Given the description of an element on the screen output the (x, y) to click on. 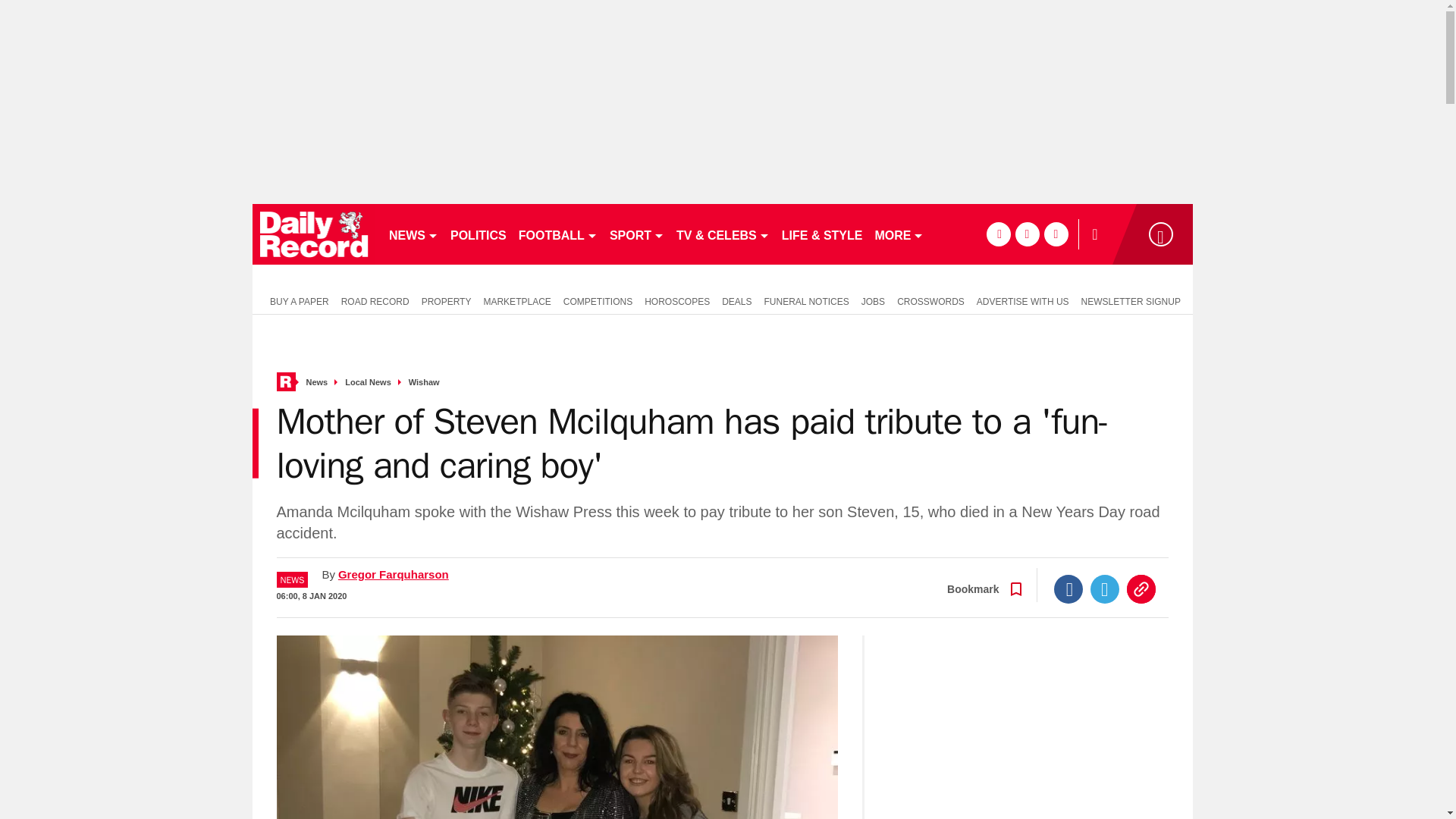
POLITICS (478, 233)
FOOTBALL (558, 233)
NEWS (413, 233)
SPORT (636, 233)
Facebook (1068, 588)
twitter (1026, 233)
facebook (997, 233)
dailyrecord (313, 233)
Twitter (1104, 588)
instagram (1055, 233)
